Given the description of an element on the screen output the (x, y) to click on. 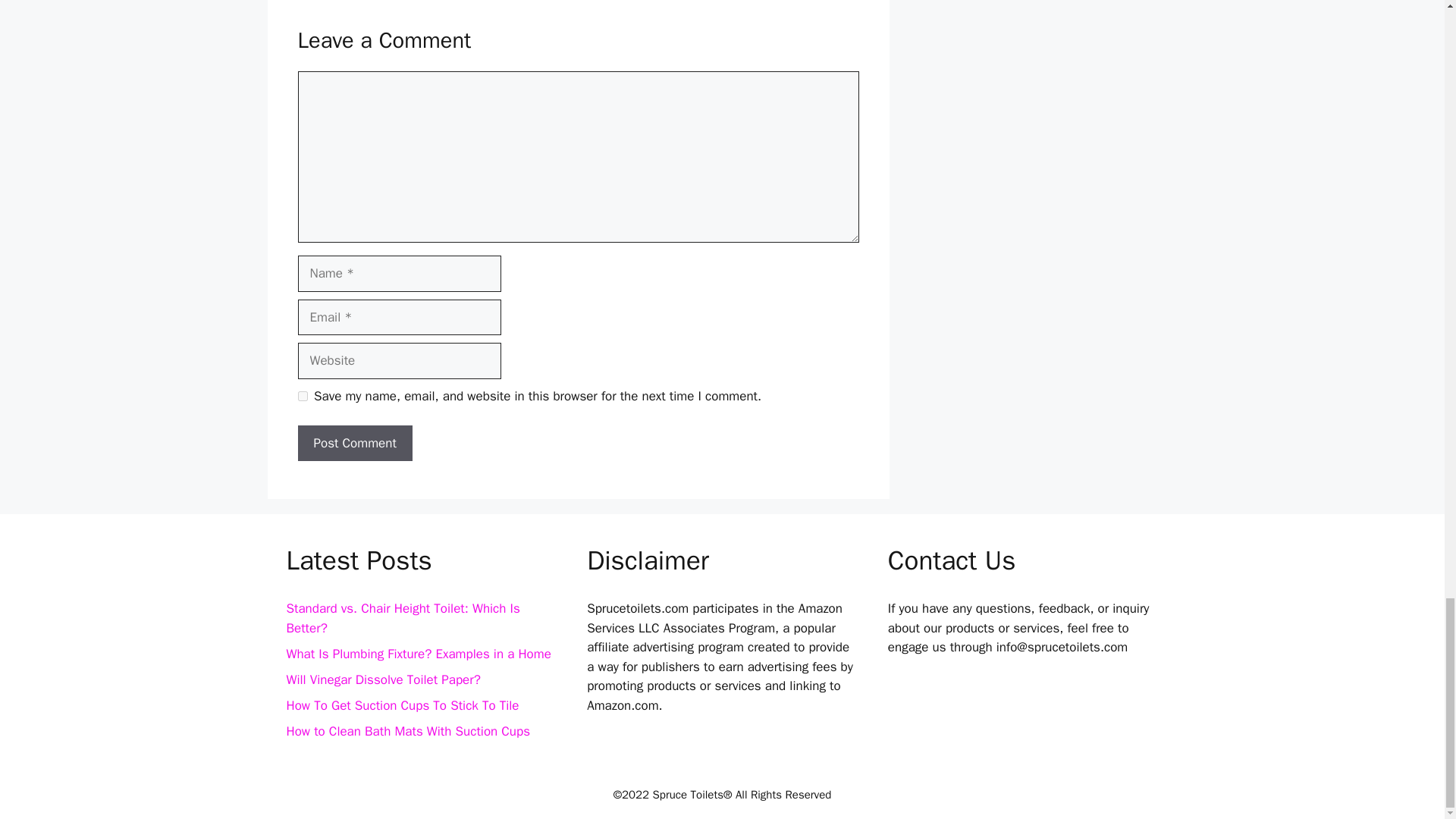
Standard vs. Chair Height Toilet: Which Is Better? (402, 618)
Will Vinegar Dissolve Toilet Paper? (383, 679)
Post Comment (354, 443)
How to Clean Bath Mats With Suction Cups (408, 731)
What Is Plumbing Fixture? Examples in a Home (418, 653)
Post Comment (354, 443)
yes (302, 396)
How To Get Suction Cups To Stick To Tile (402, 705)
